Given the description of an element on the screen output the (x, y) to click on. 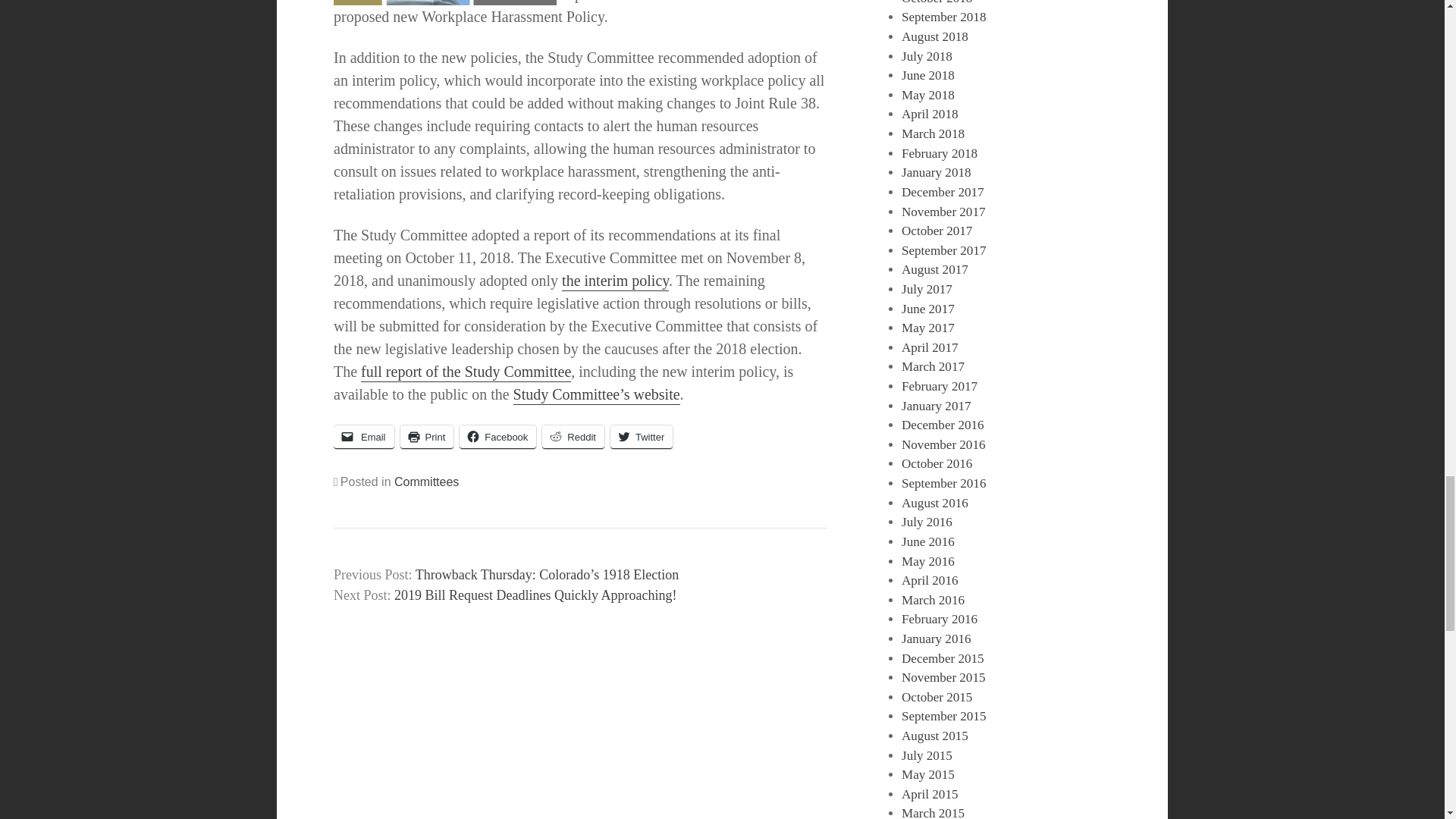
Committees (426, 481)
Click to share on Reddit (572, 436)
2019 Bill Request Deadlines Quickly Approaching! (535, 595)
Click to print (427, 436)
Facebook (497, 436)
Email (363, 436)
the interim policy (615, 281)
Click to share on Twitter (641, 436)
Twitter (641, 436)
Click to email a link to a friend (363, 436)
full report of the Study Committee (465, 372)
Click to share on Facebook (497, 436)
Reddit (572, 436)
Print (427, 436)
